Given the description of an element on the screen output the (x, y) to click on. 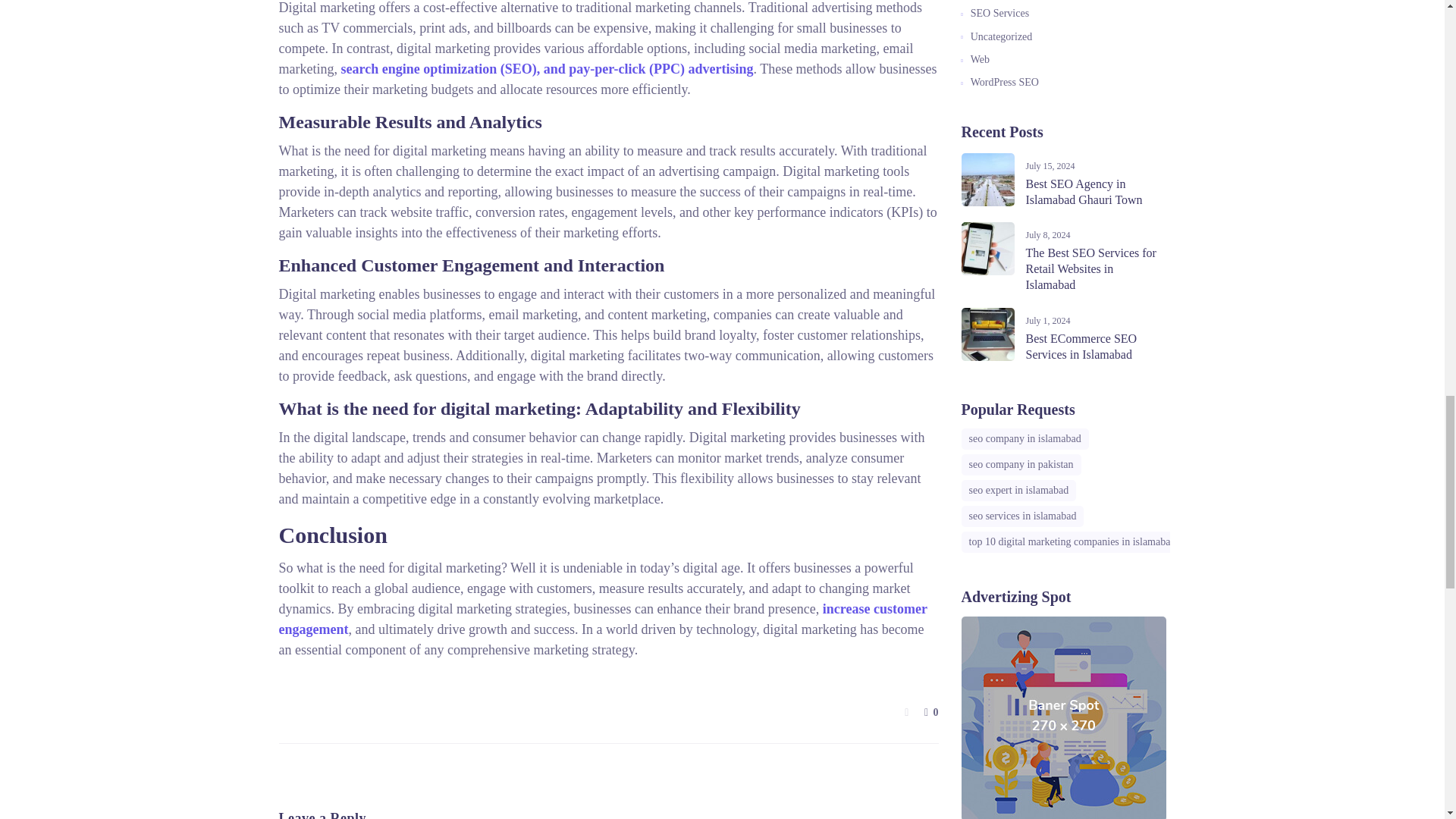
increase customer engagement (603, 619)
